Given the description of an element on the screen output the (x, y) to click on. 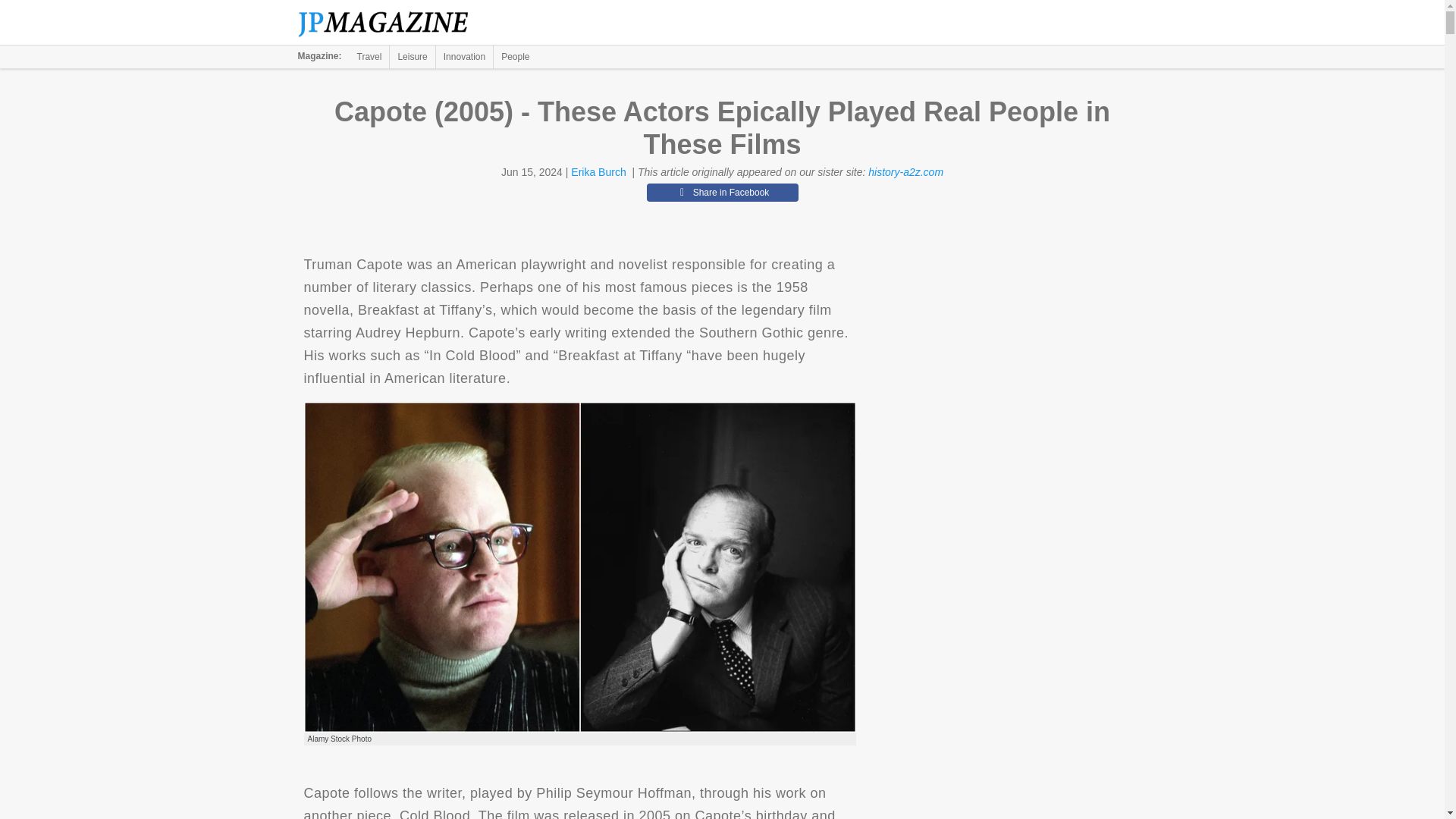
Leisure (411, 56)
Innovation (464, 56)
People (515, 56)
Erika Burch (598, 172)
The Jerusalem Post Magazine (391, 22)
Travel (369, 56)
Share in Facebook (721, 192)
history-a2z.com (905, 172)
